Given the description of an element on the screen output the (x, y) to click on. 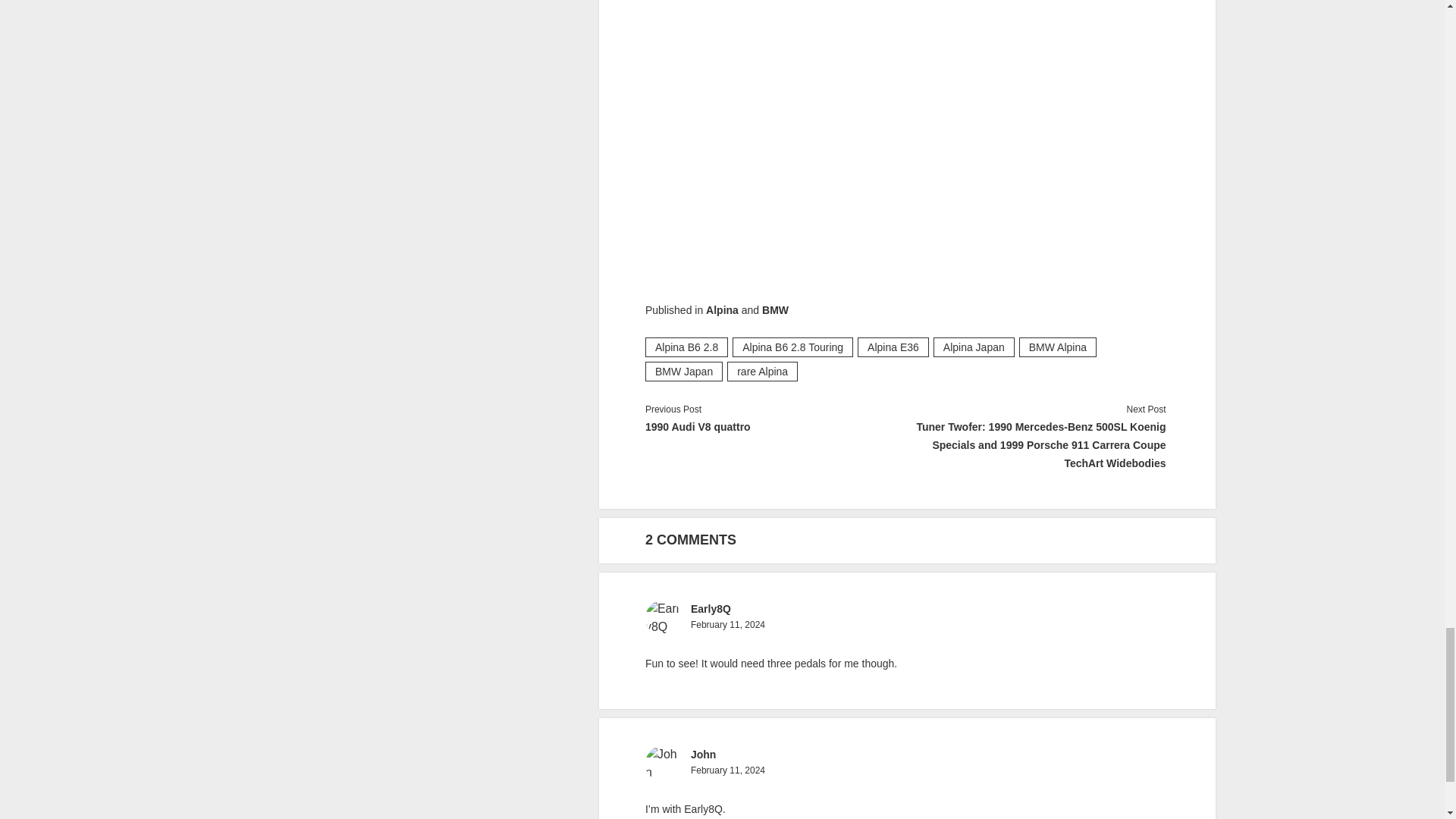
Alpina E36 (892, 347)
View all posts tagged rare Alpina (761, 371)
BMW (775, 309)
Alpina B6 2.8 Touring (792, 347)
View all posts tagged Alpina Japan (973, 347)
View all posts tagged Alpina E36 (892, 347)
BMW Alpina (1057, 347)
1990 Audi V8 quattro (776, 426)
Alpina (722, 309)
View all posts tagged BMW Japan (683, 371)
View all posts tagged BMW Alpina (1057, 347)
BMW Japan (683, 371)
rare Alpina (761, 371)
View all posts in BMW (775, 309)
View all posts in Alpina (722, 309)
